Given the description of an element on the screen output the (x, y) to click on. 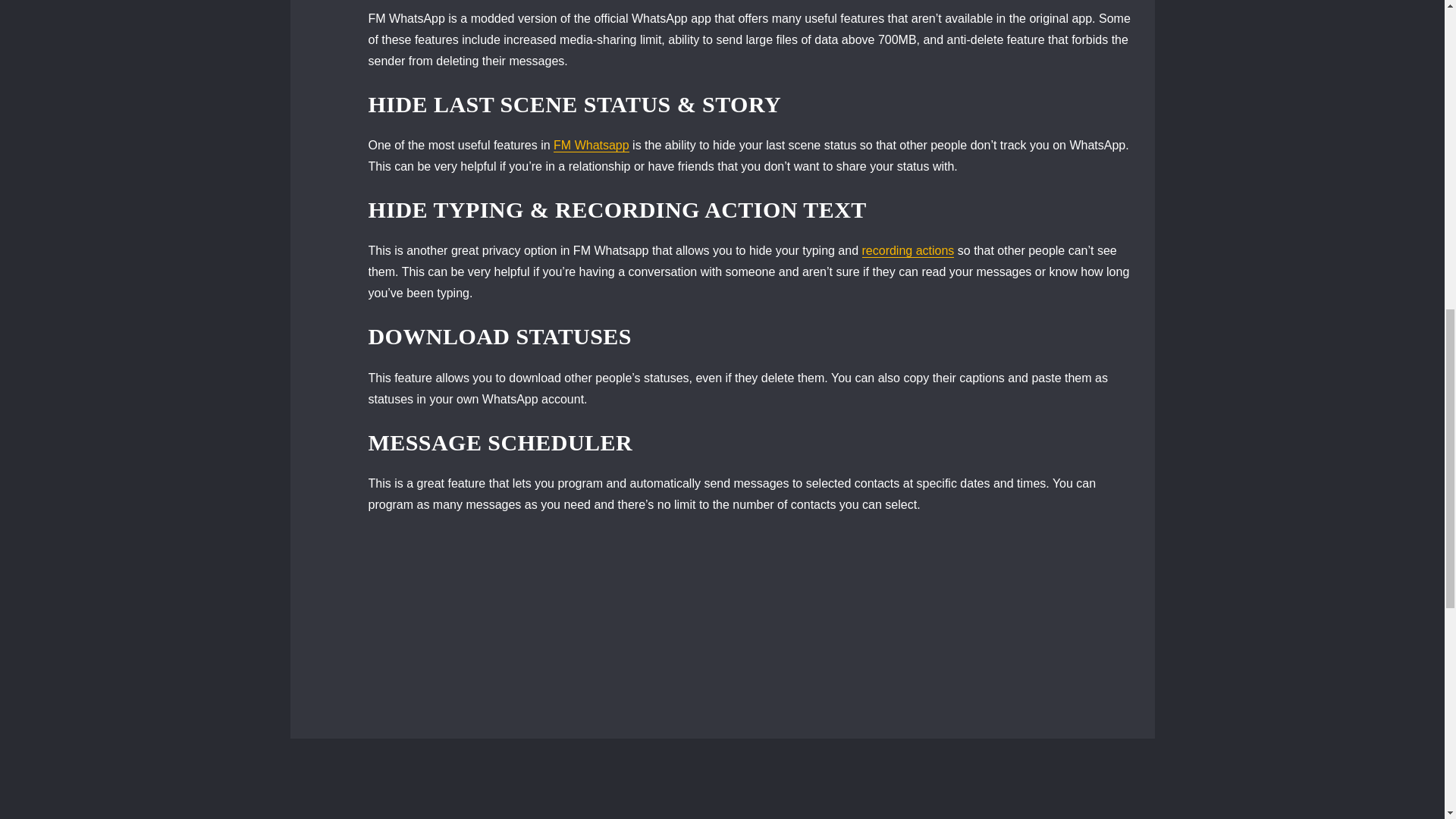
FM Whatsapp (590, 144)
recording actions (908, 250)
